Given the description of an element on the screen output the (x, y) to click on. 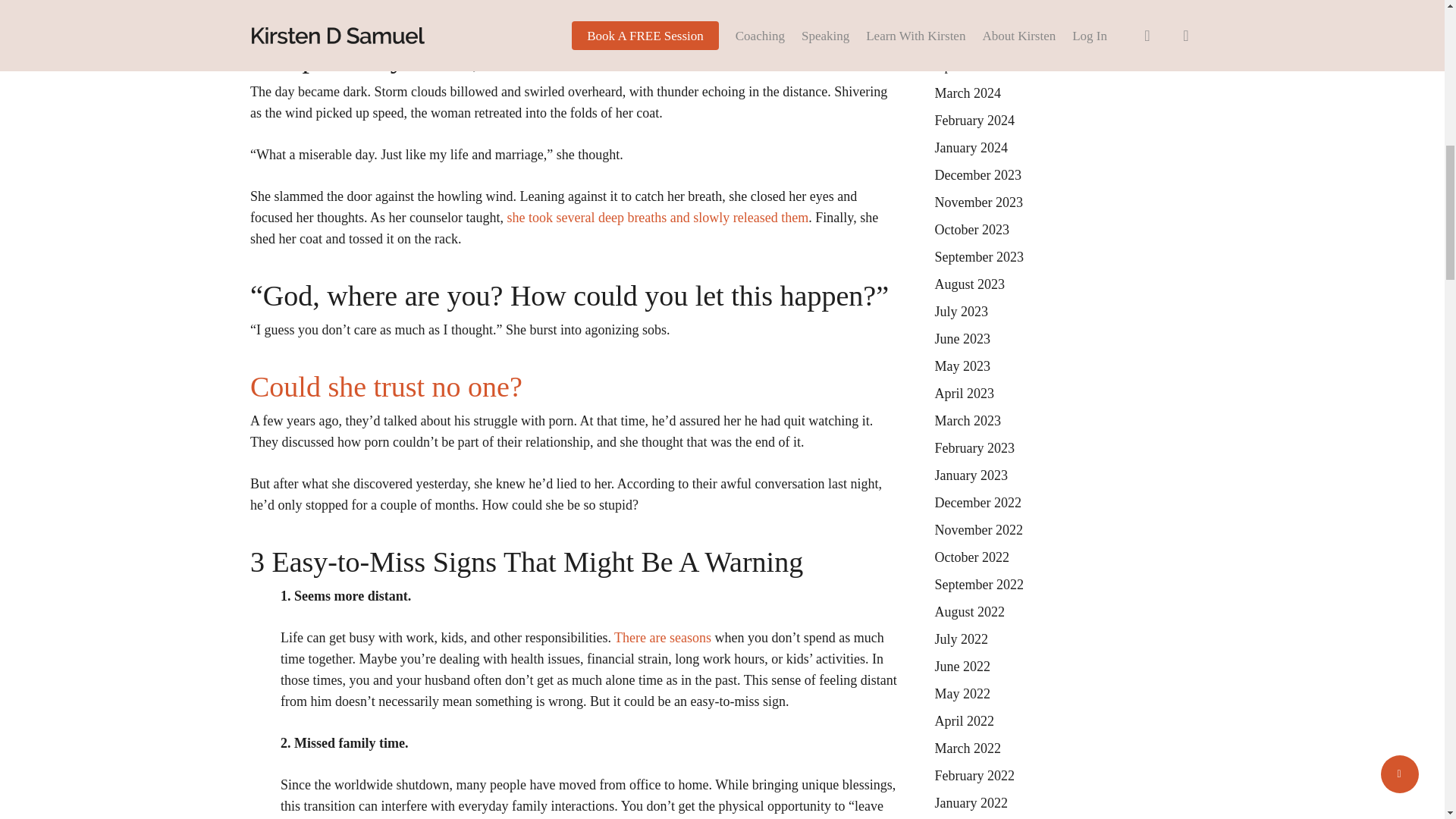
There are seasons (662, 637)
Could she trust no one?  (389, 386)
she took several deep breaths and slowly released them (657, 217)
